Given the description of an element on the screen output the (x, y) to click on. 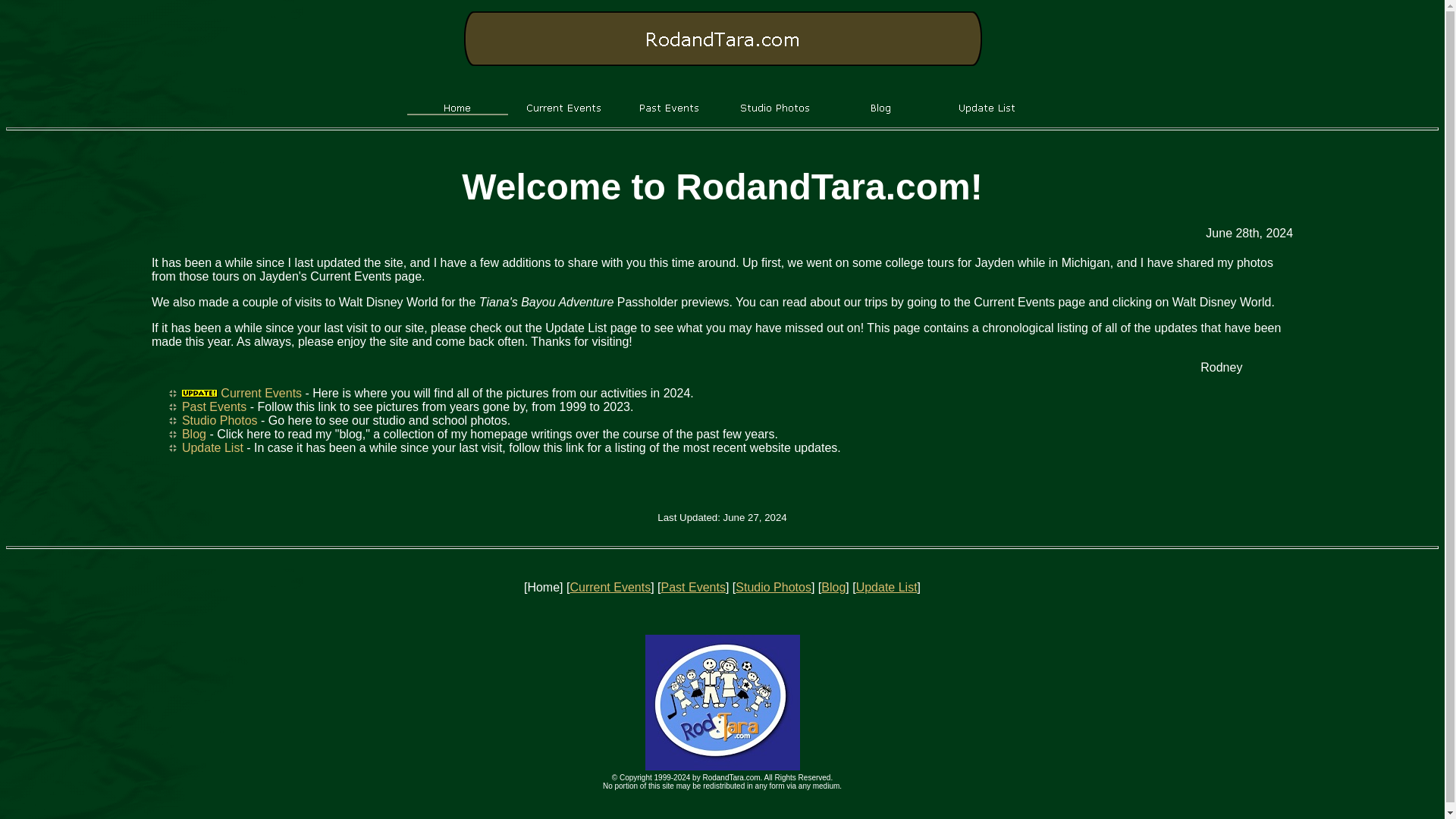
Blog (194, 433)
Current Events (261, 392)
Current Events (609, 586)
Past Events (693, 586)
Update List (212, 447)
Past Events (214, 406)
Studio Photos (219, 420)
Studio Photos (772, 586)
Blog (833, 586)
Update List (886, 586)
